Given the description of an element on the screen output the (x, y) to click on. 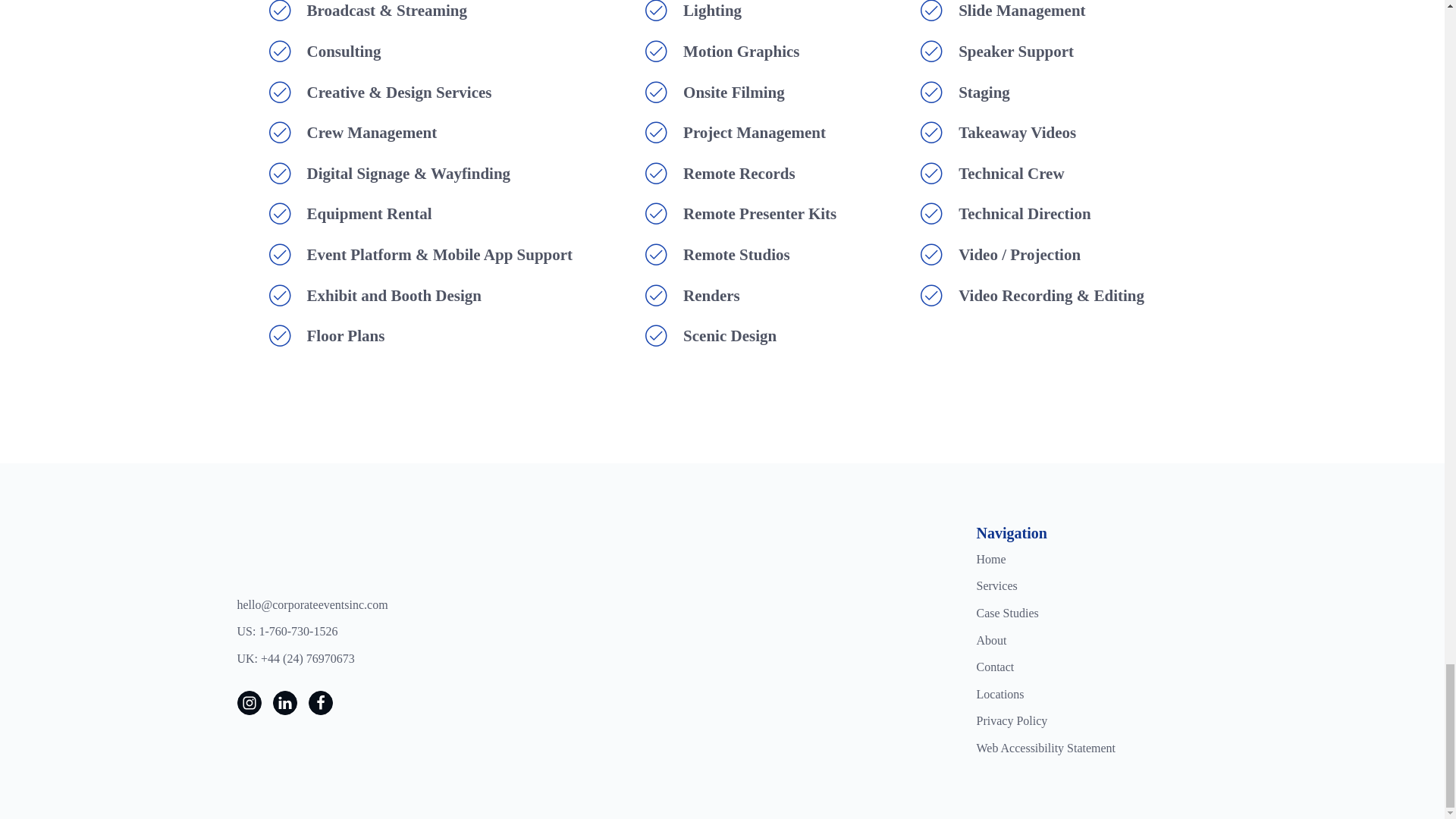
Privacy Policy (1012, 721)
Web Accessibility Statement (1046, 748)
Case Studies (1007, 613)
Contact (995, 667)
US: 1-760-730-1526 (286, 631)
Services (996, 586)
Home (991, 559)
About (991, 640)
Locations (1000, 694)
